Given the description of an element on the screen output the (x, y) to click on. 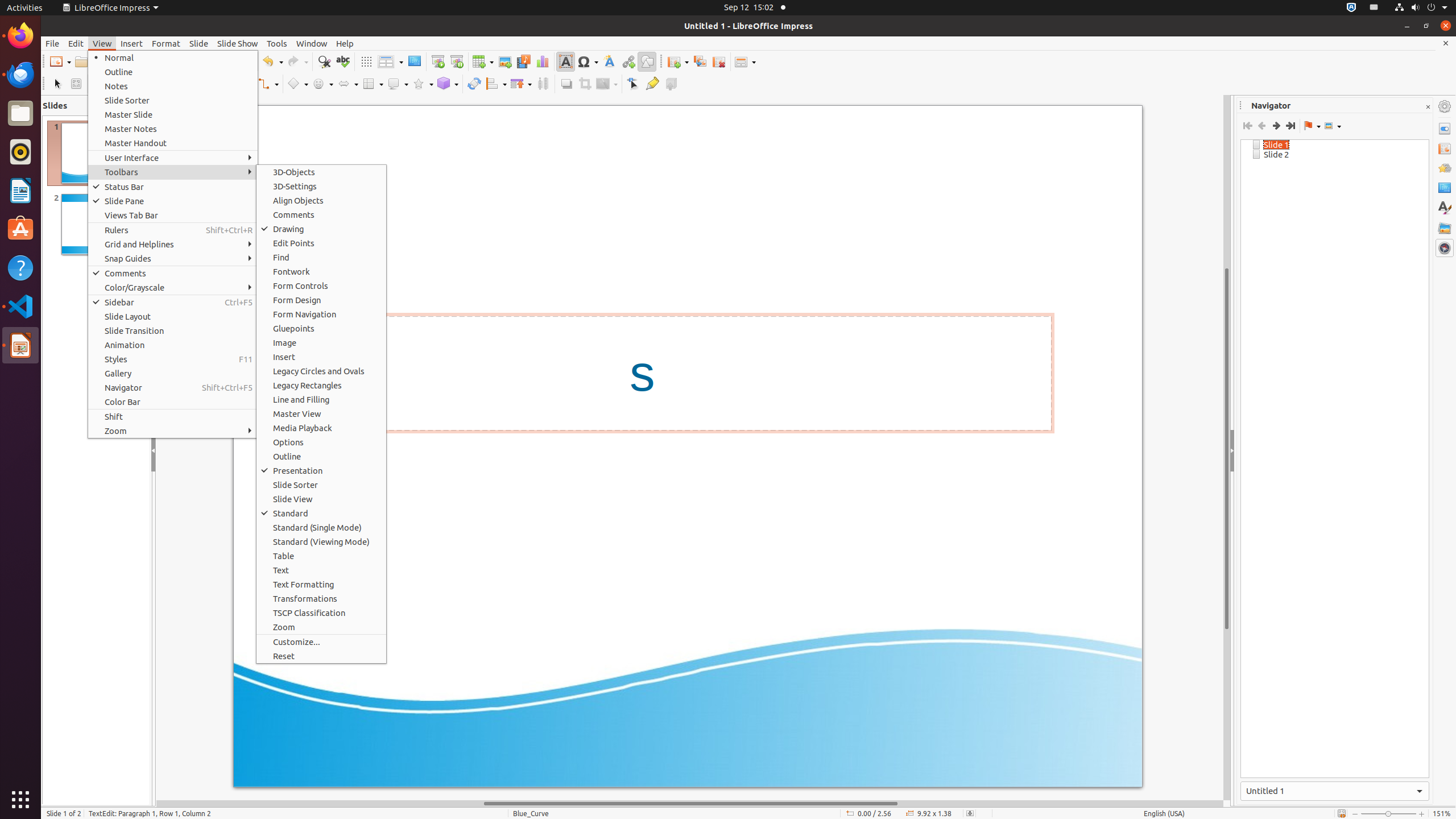
Ubuntu Software Element type: push-button (20, 229)
Previous Slide Element type: push-button (1261, 125)
